Given the description of an element on the screen output the (x, y) to click on. 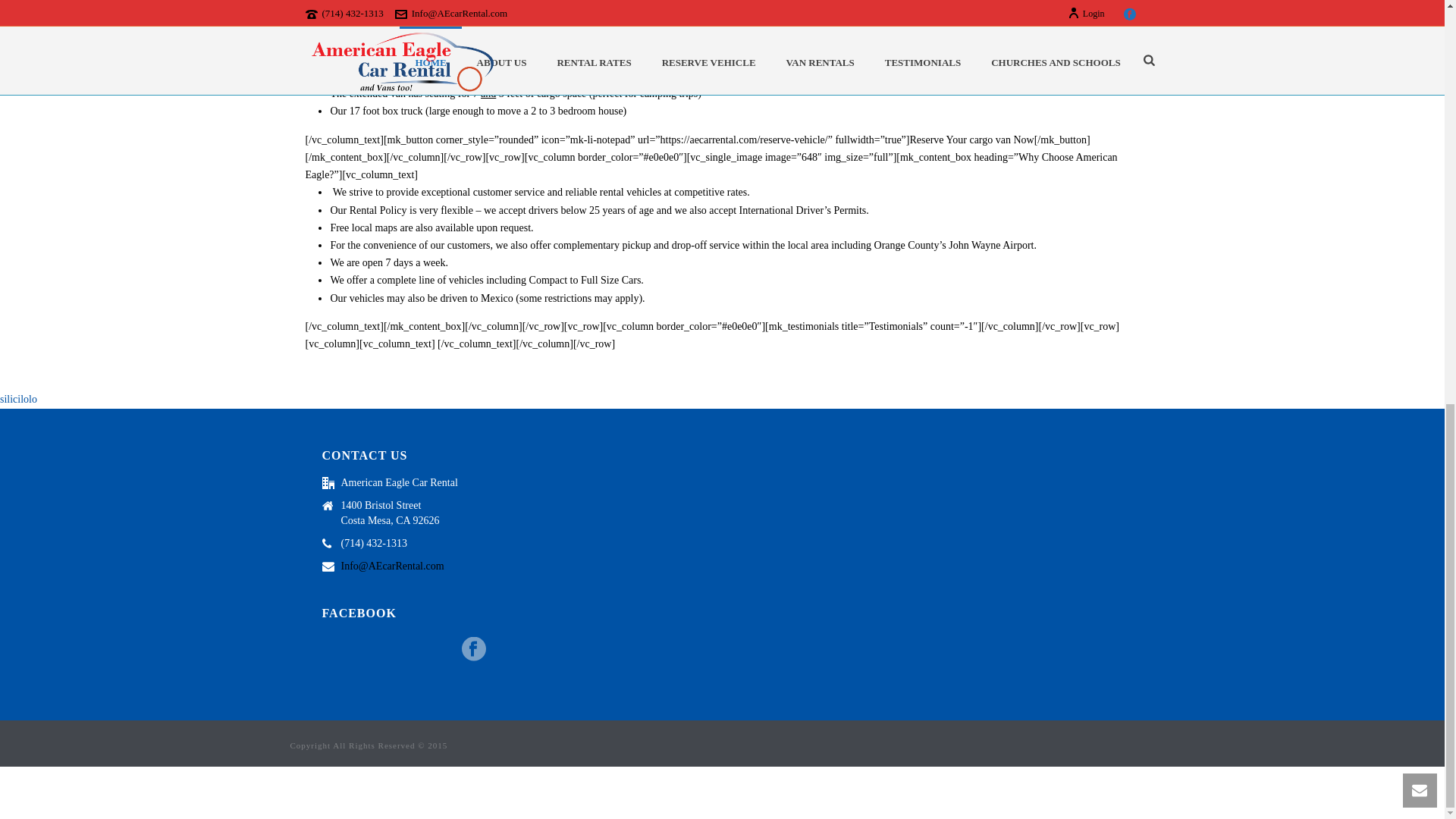
lolo (28, 398)
Follow Us on facebook (472, 650)
silici (10, 398)
